Given the description of an element on the screen output the (x, y) to click on. 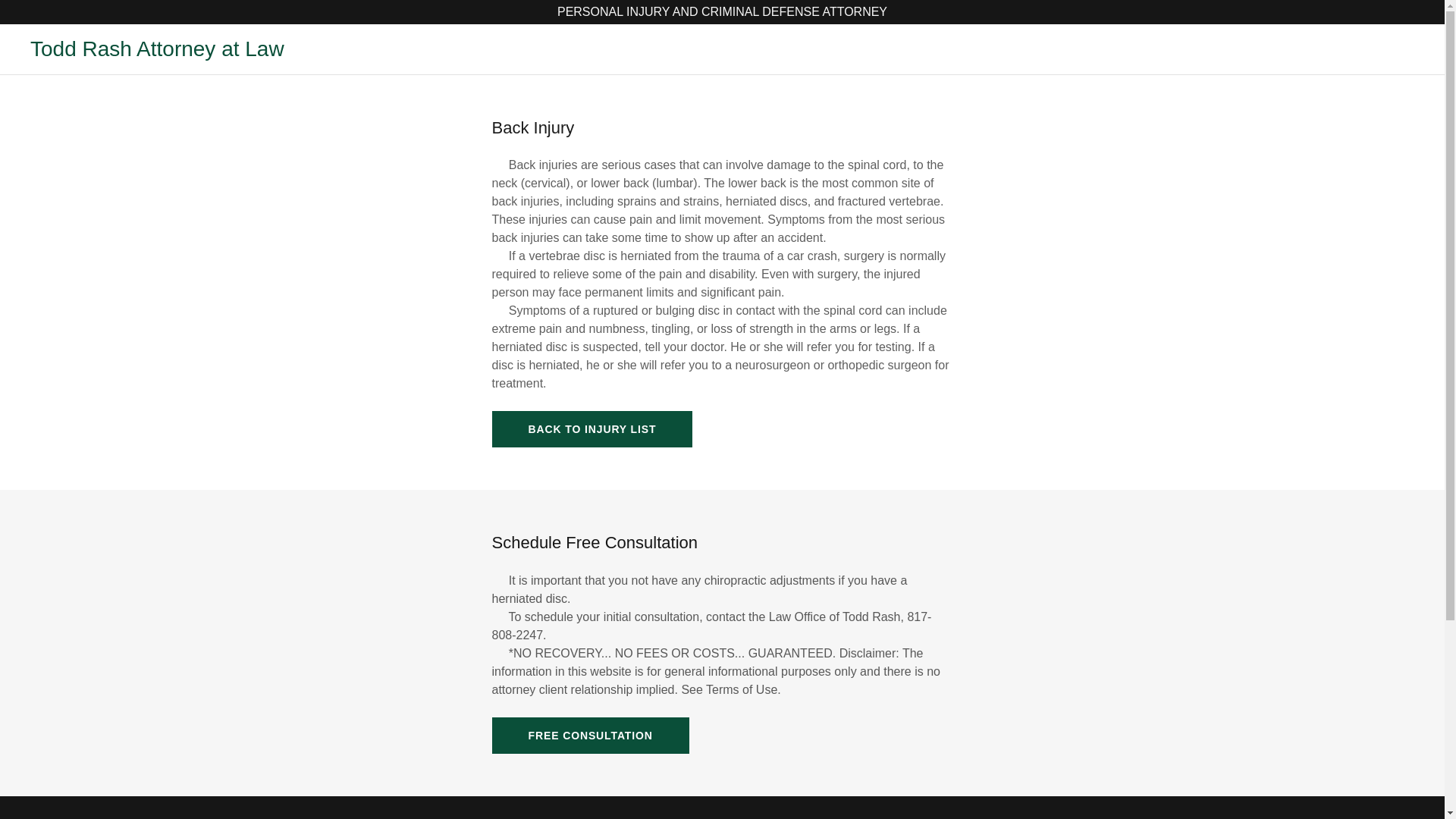
Todd Rash Attorney at Law (156, 49)
Todd Rash Attorney at Law (156, 49)
BACK TO INJURY LIST (592, 429)
FREE CONSULTATION (590, 735)
